Given the description of an element on the screen output the (x, y) to click on. 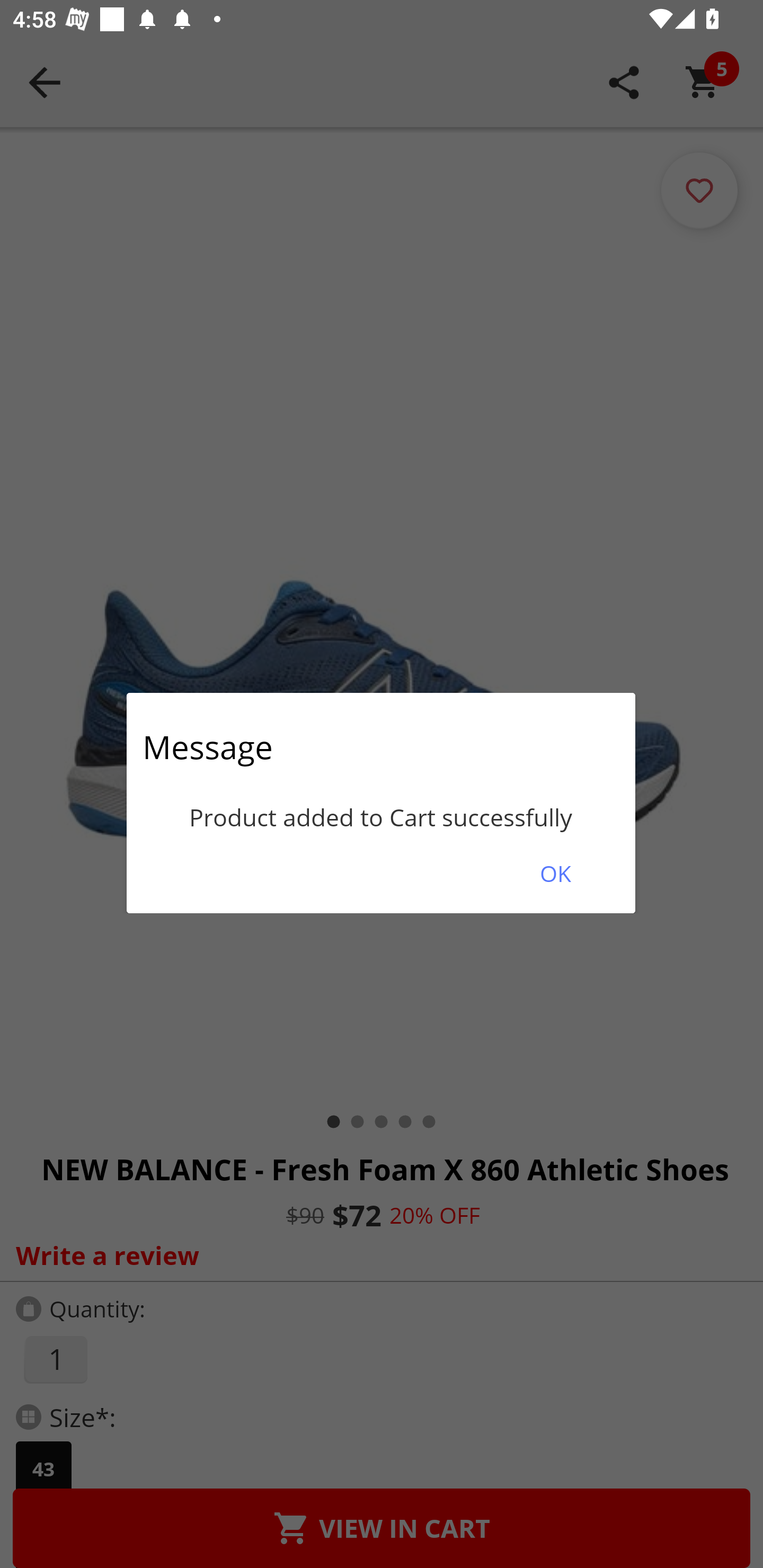
OK (555, 873)
